Given the description of an element on the screen output the (x, y) to click on. 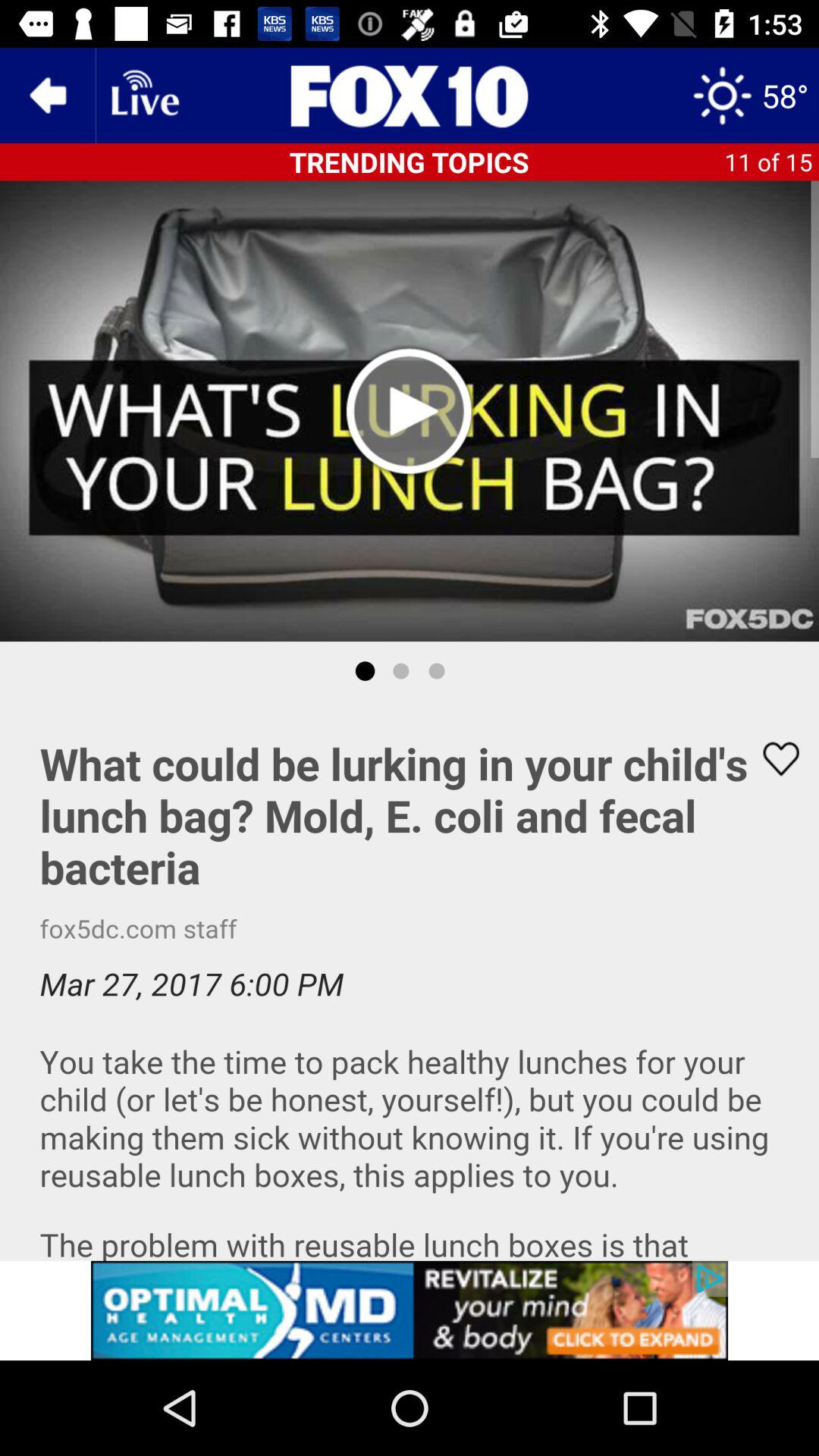
like button (771, 758)
